Given the description of an element on the screen output the (x, y) to click on. 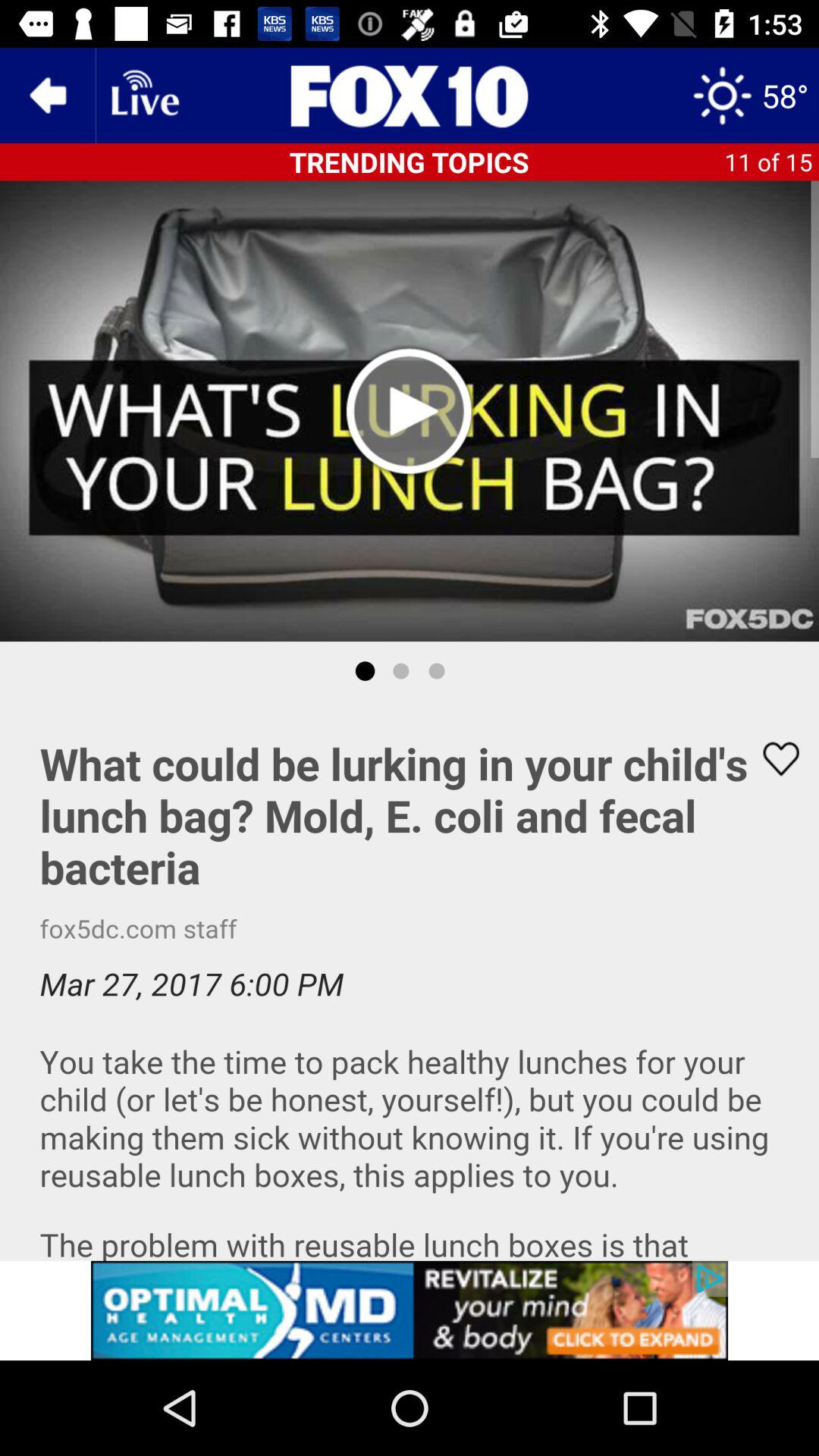
like button (771, 758)
